Given the description of an element on the screen output the (x, y) to click on. 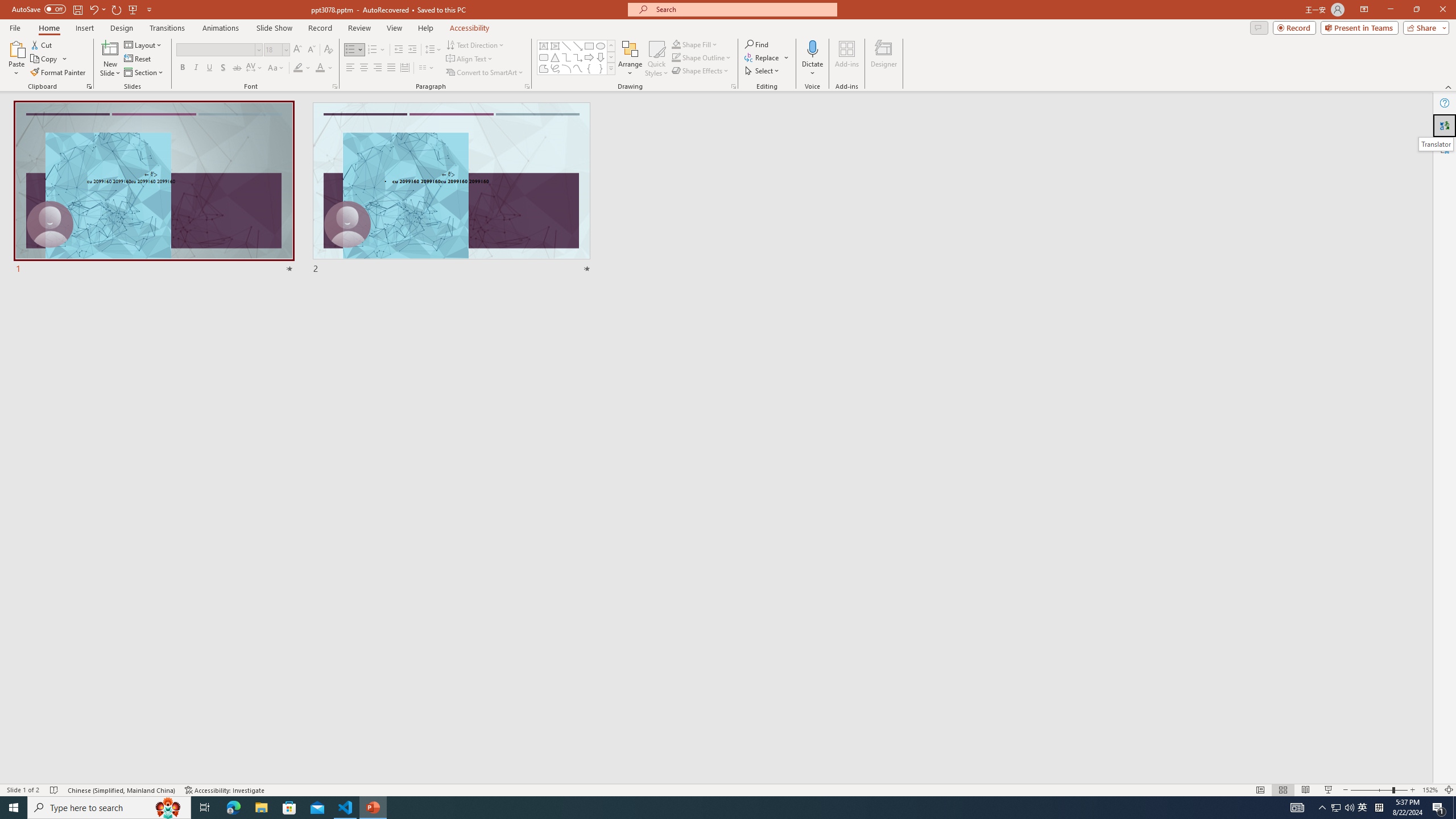
Spell Check No Errors (54, 790)
Shape Fill (694, 44)
Italic (195, 67)
Translator (1435, 143)
Oval (600, 45)
Text Box (543, 45)
Replace... (767, 56)
Design (122, 28)
Bullets (354, 49)
Paragraph... (526, 85)
File Tab (15, 27)
Strikethrough (237, 67)
Bold (182, 67)
